Given the description of an element on the screen output the (x, y) to click on. 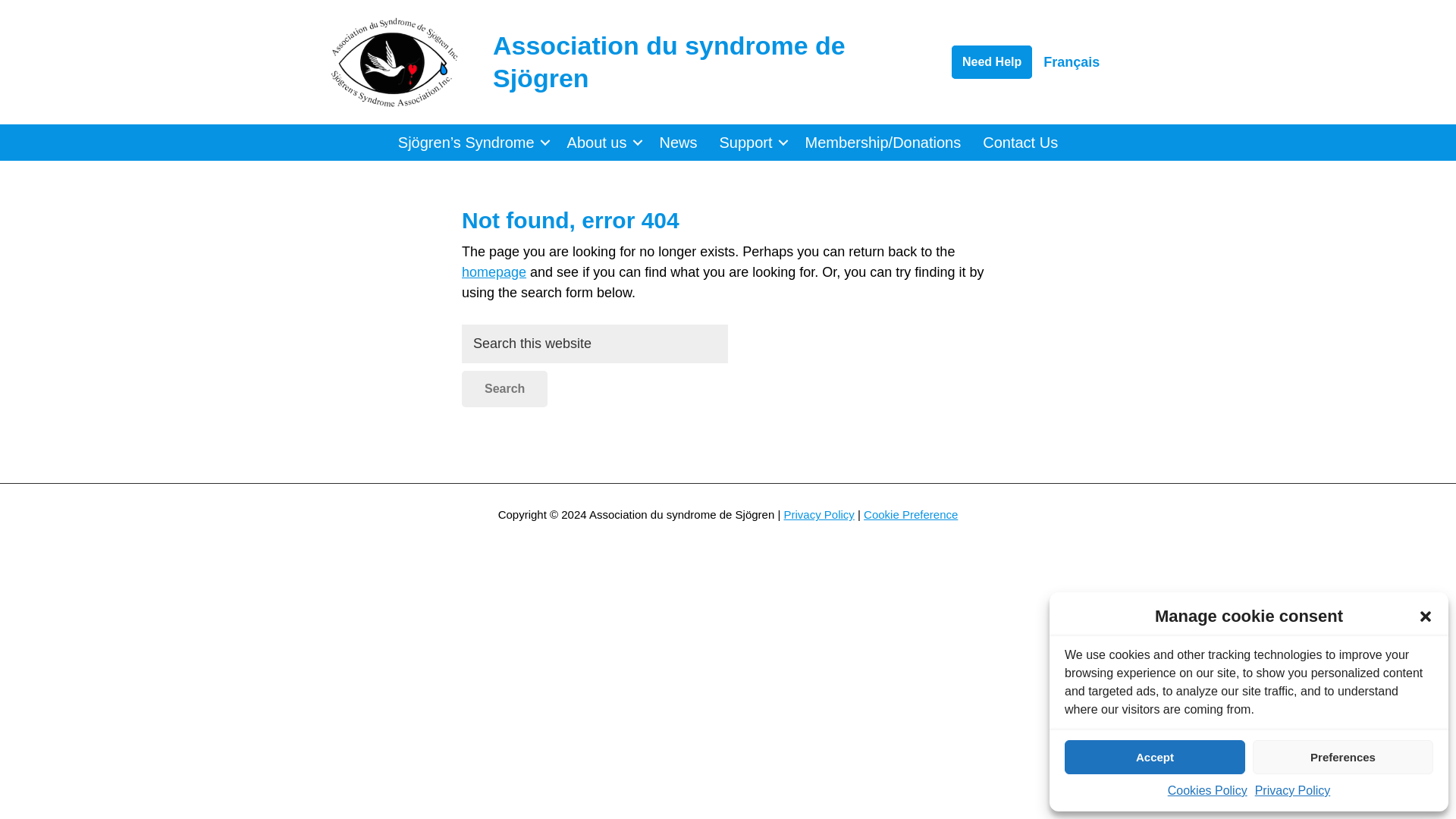
Support (751, 142)
Search (504, 389)
Search (504, 389)
News (678, 142)
logo-sjogren (394, 61)
Need Help (992, 61)
Contact Us (1020, 142)
About us (601, 142)
